Given the description of an element on the screen output the (x, y) to click on. 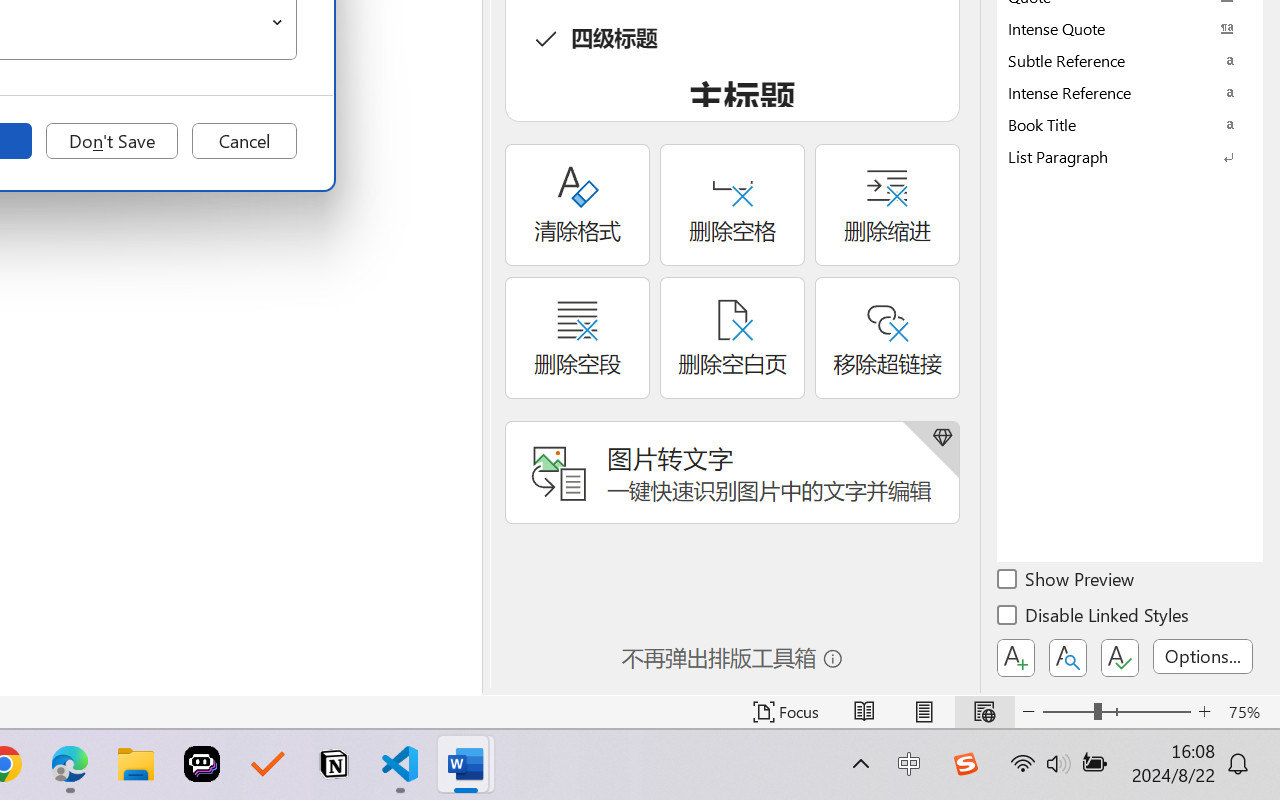
Intense Quote (1130, 28)
Notion (333, 764)
Class: NetUIImage (1116, 156)
Web Layout (984, 712)
Focus  (786, 712)
